Given the description of an element on the screen output the (x, y) to click on. 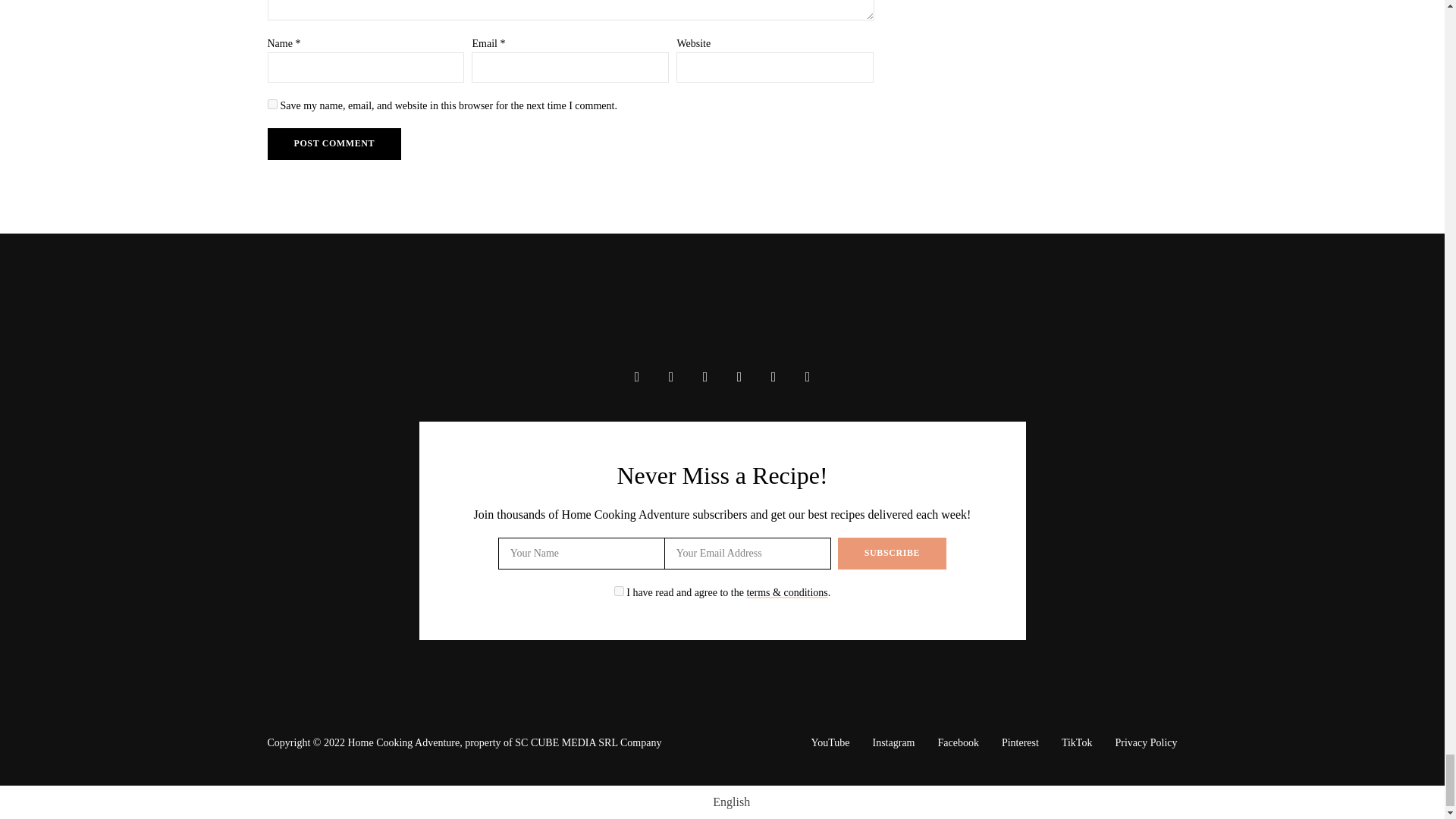
1 (619, 591)
Subscribe (892, 553)
yes (271, 103)
Post Comment (333, 143)
